Given the description of an element on the screen output the (x, y) to click on. 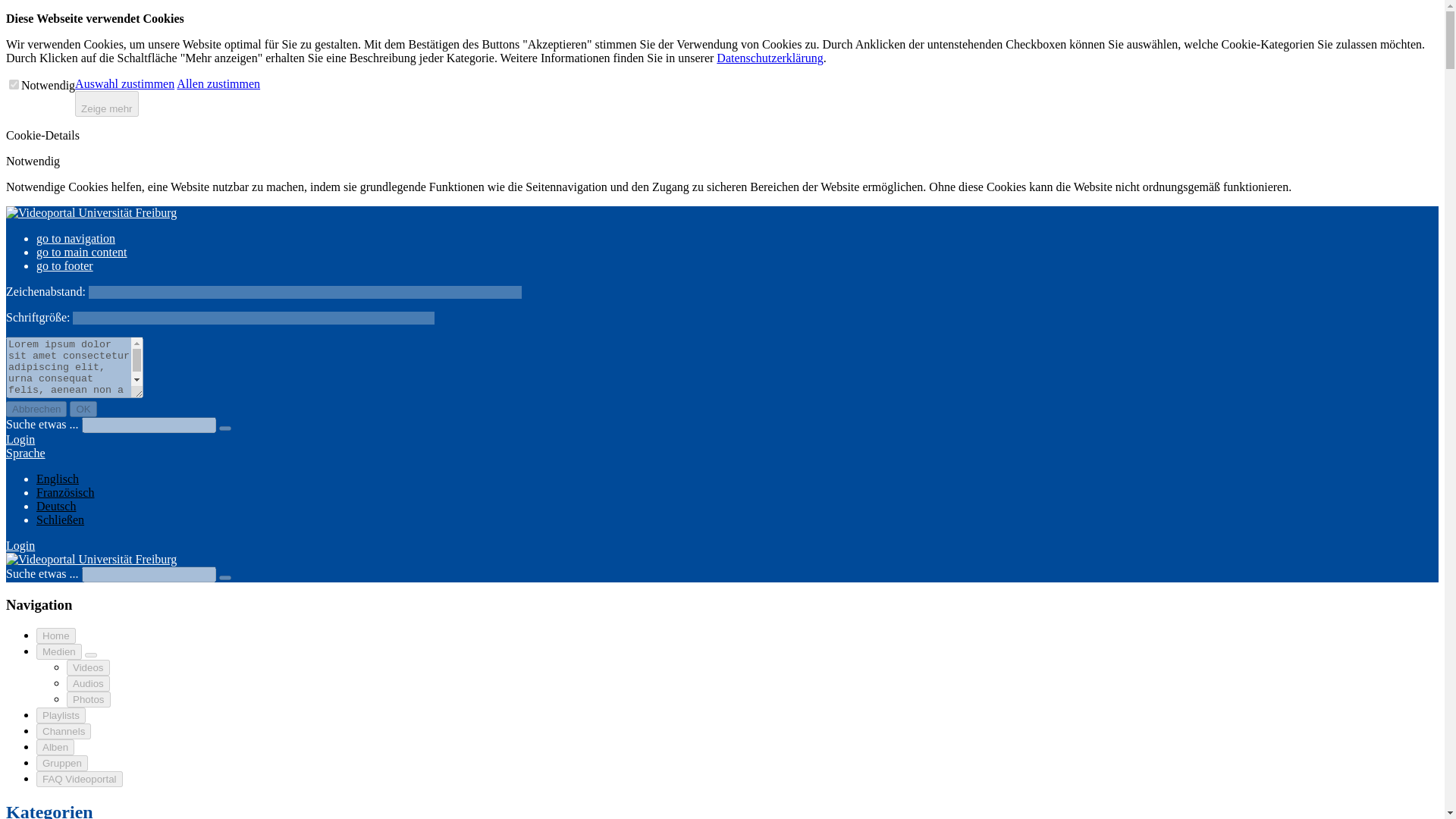
go to navigation (75, 237)
Sprache (25, 452)
Deutsch (55, 505)
Englisch (57, 478)
OK (82, 408)
Home (55, 635)
Photos (88, 699)
FAQ Videoportal (79, 779)
Alben (55, 747)
Videos (88, 667)
